Given the description of an element on the screen output the (x, y) to click on. 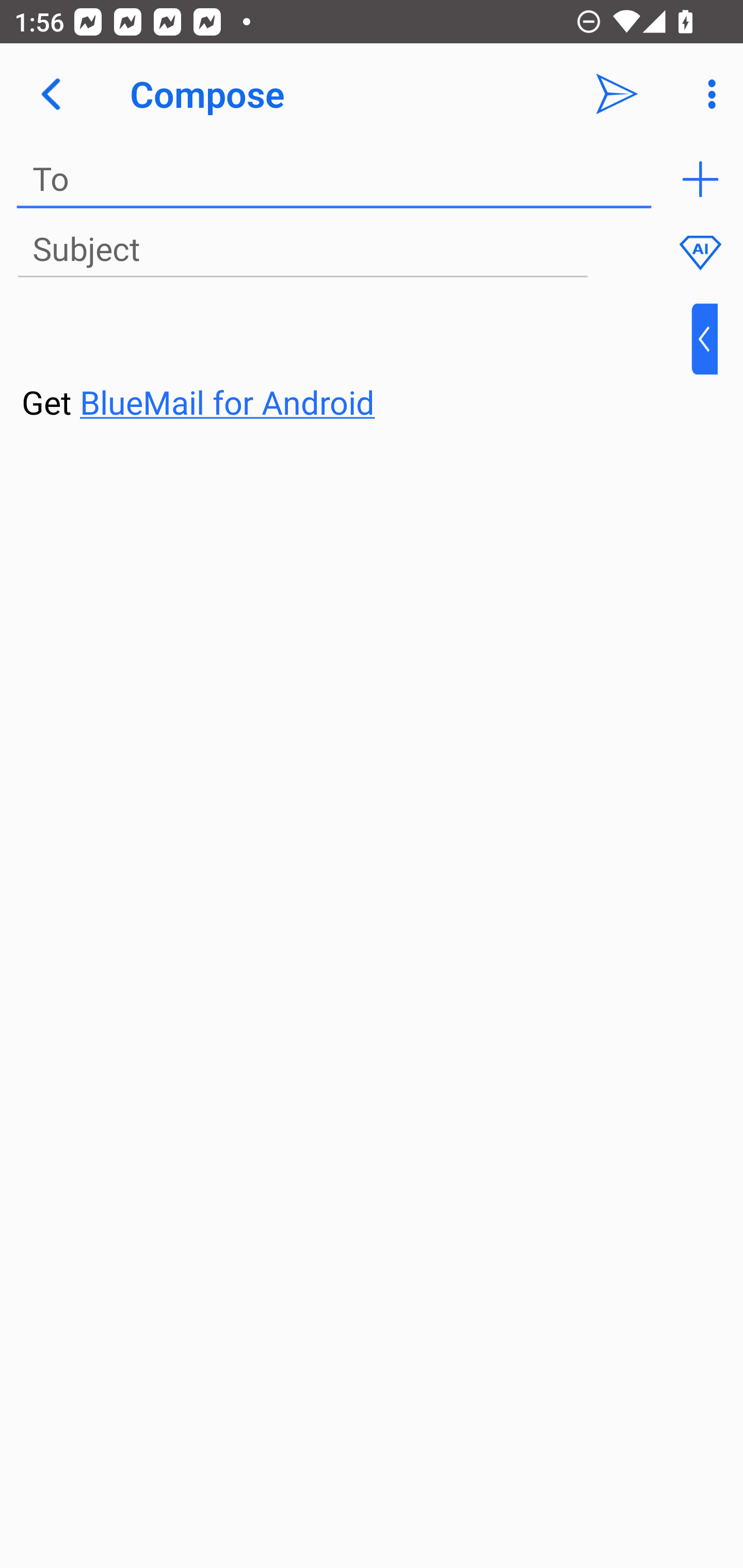
Navigate up (50, 93)
Send (616, 93)
More Options (706, 93)
To (334, 179)
Add recipient (To) (699, 179)
Subject (302, 249)


⁣Get BlueMail for Android ​ (355, 363)
